Given the description of an element on the screen output the (x, y) to click on. 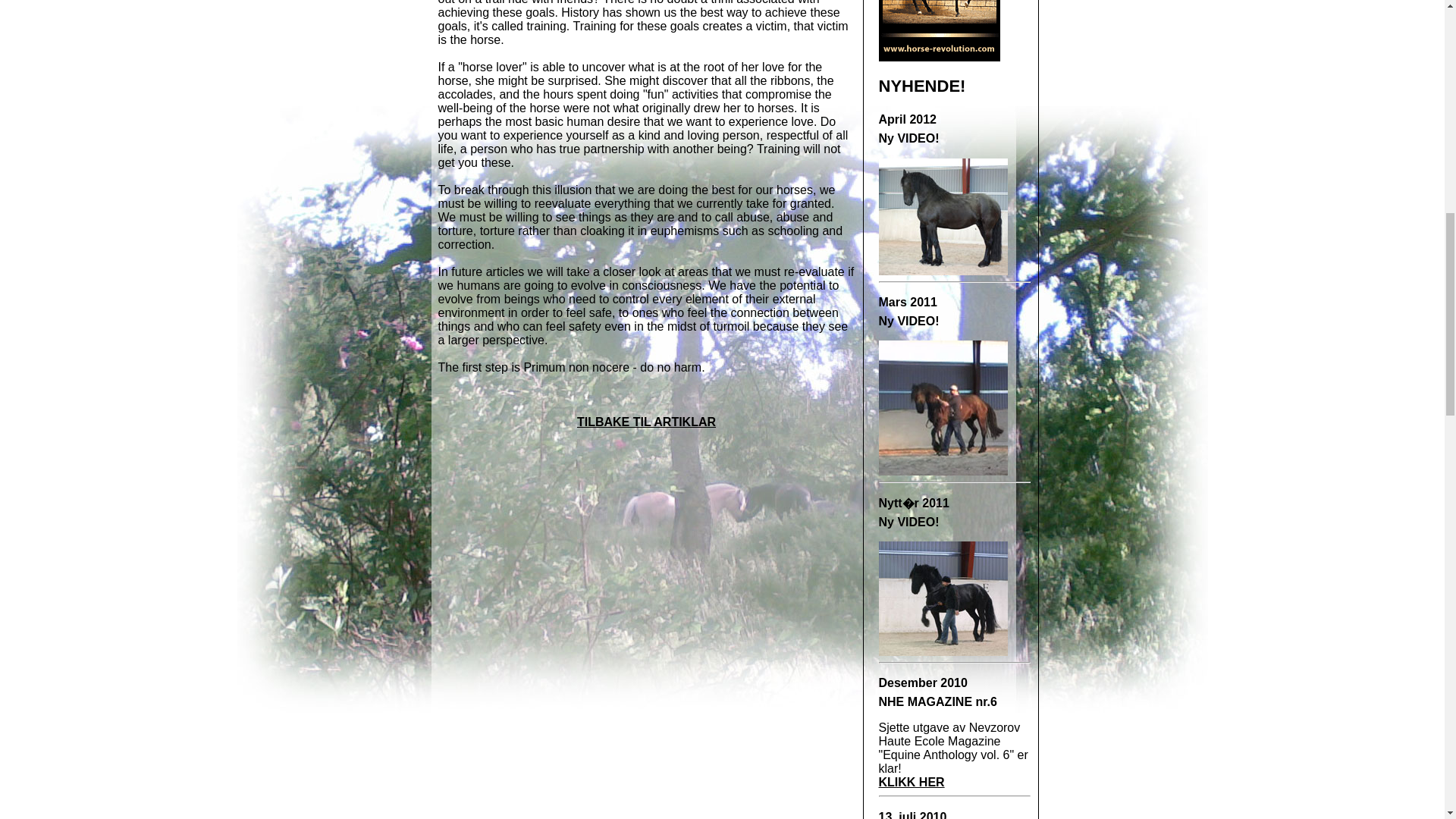
TILBAKE TIL ARTIKLAR (646, 421)
KLIKK HER (910, 781)
